Given the description of an element on the screen output the (x, y) to click on. 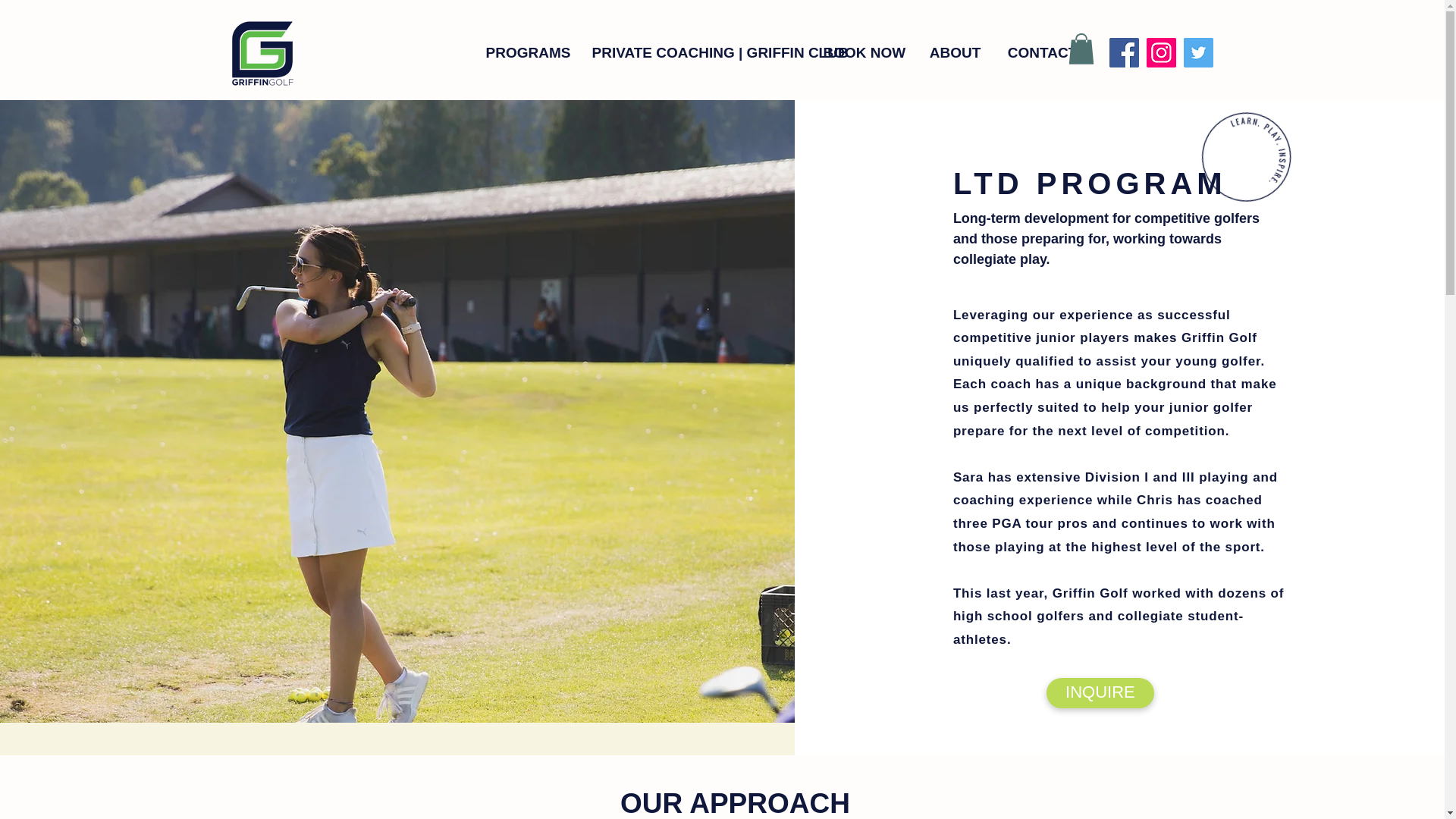
INQUIRE (1100, 693)
BOOK NOW (862, 53)
CONTACT (1041, 53)
